Given the description of an element on the screen output the (x, y) to click on. 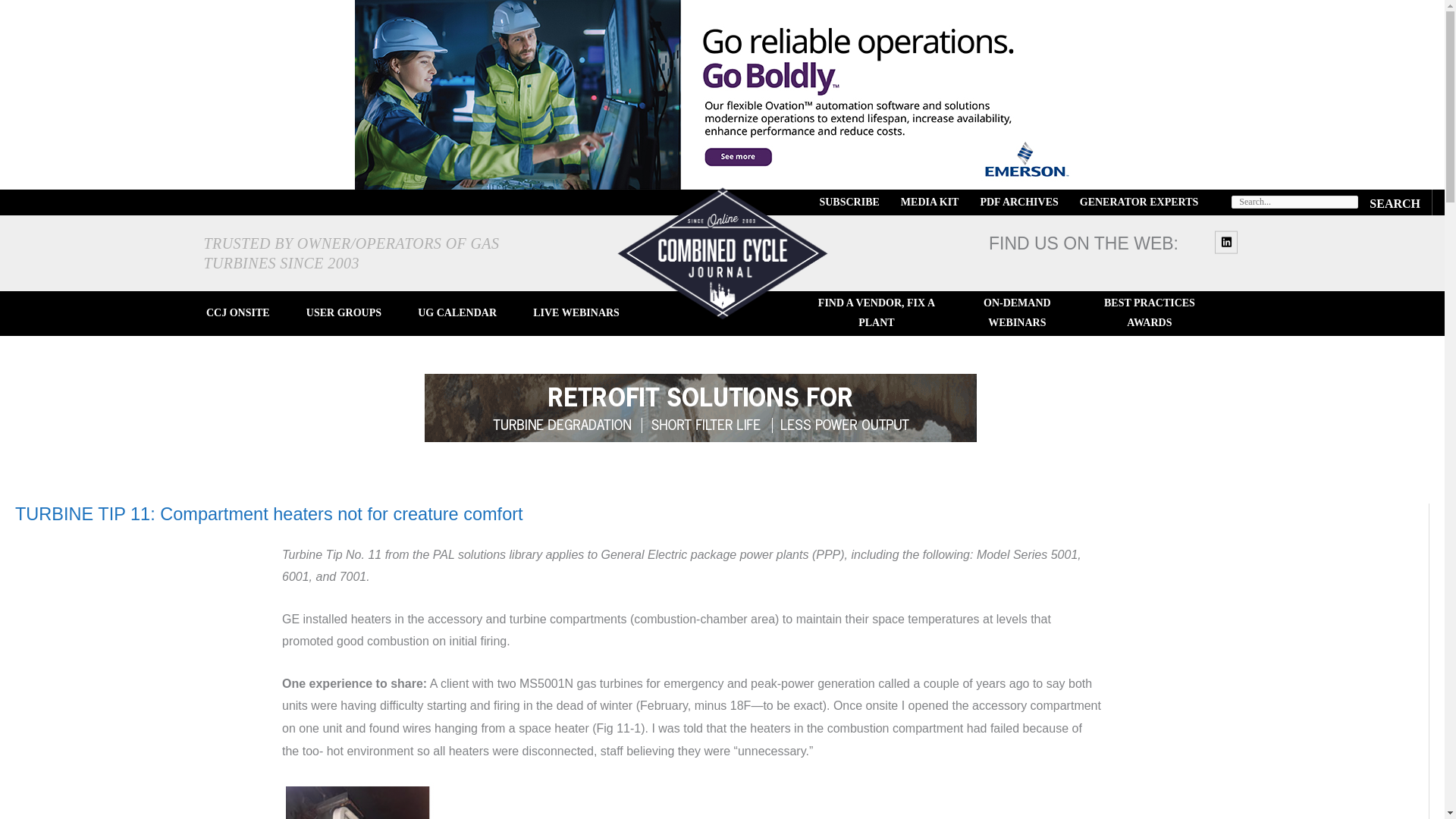
MEDIA KIT (929, 201)
GENERATOR EXPERTS (1138, 201)
UG CALENDAR (456, 313)
SUBSCRIBE (848, 201)
FIND A VENDOR, FIX A PLANT (876, 313)
USER GROUPS (343, 313)
BEST PRACTICES AWARDS (1148, 313)
found-wires-hanging-from-a-space-heater (357, 800)
Search (1394, 202)
CCJ ONSITE (237, 313)
